Given the description of an element on the screen output the (x, y) to click on. 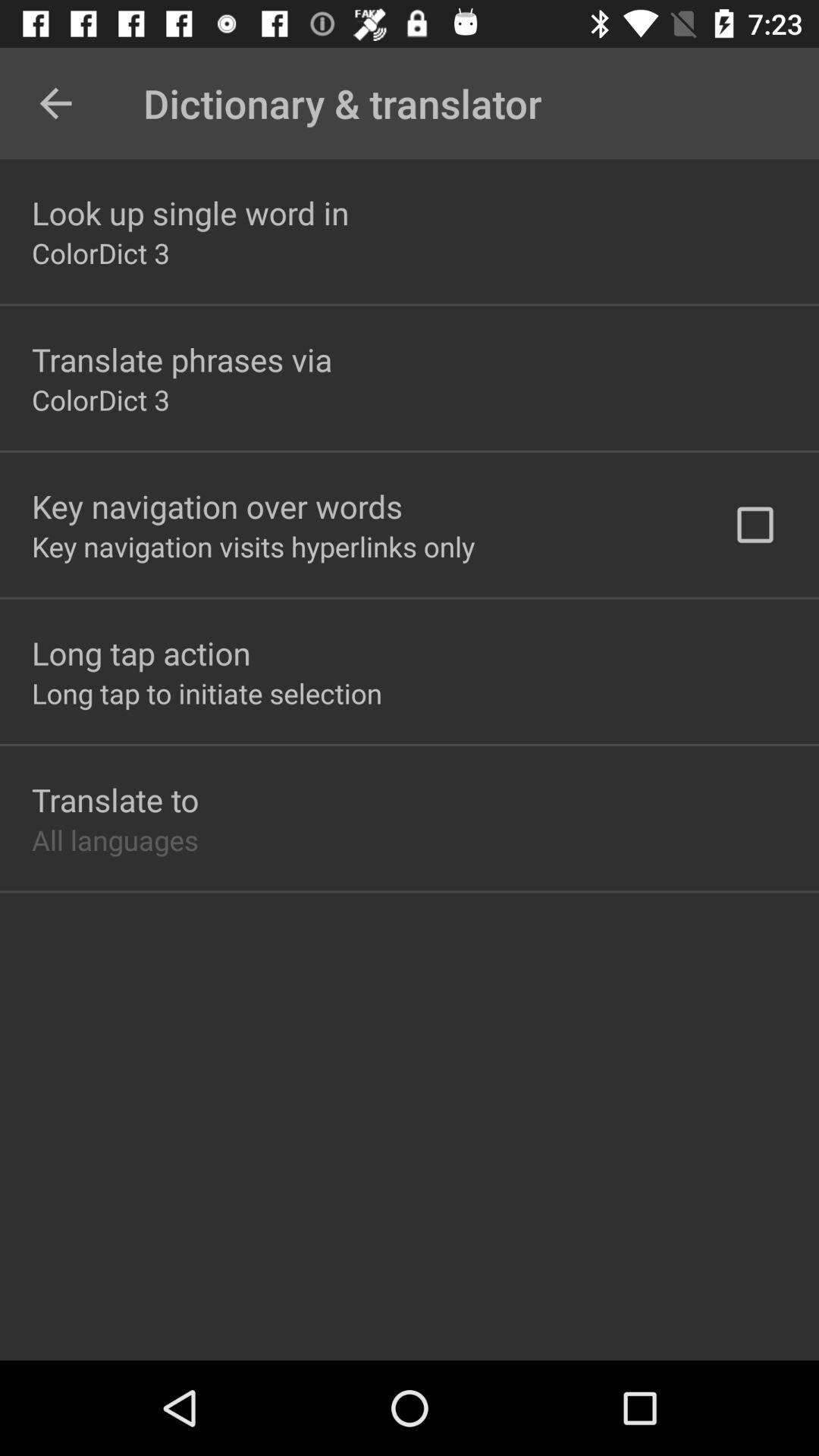
choose the all languages item (114, 839)
